Given the description of an element on the screen output the (x, y) to click on. 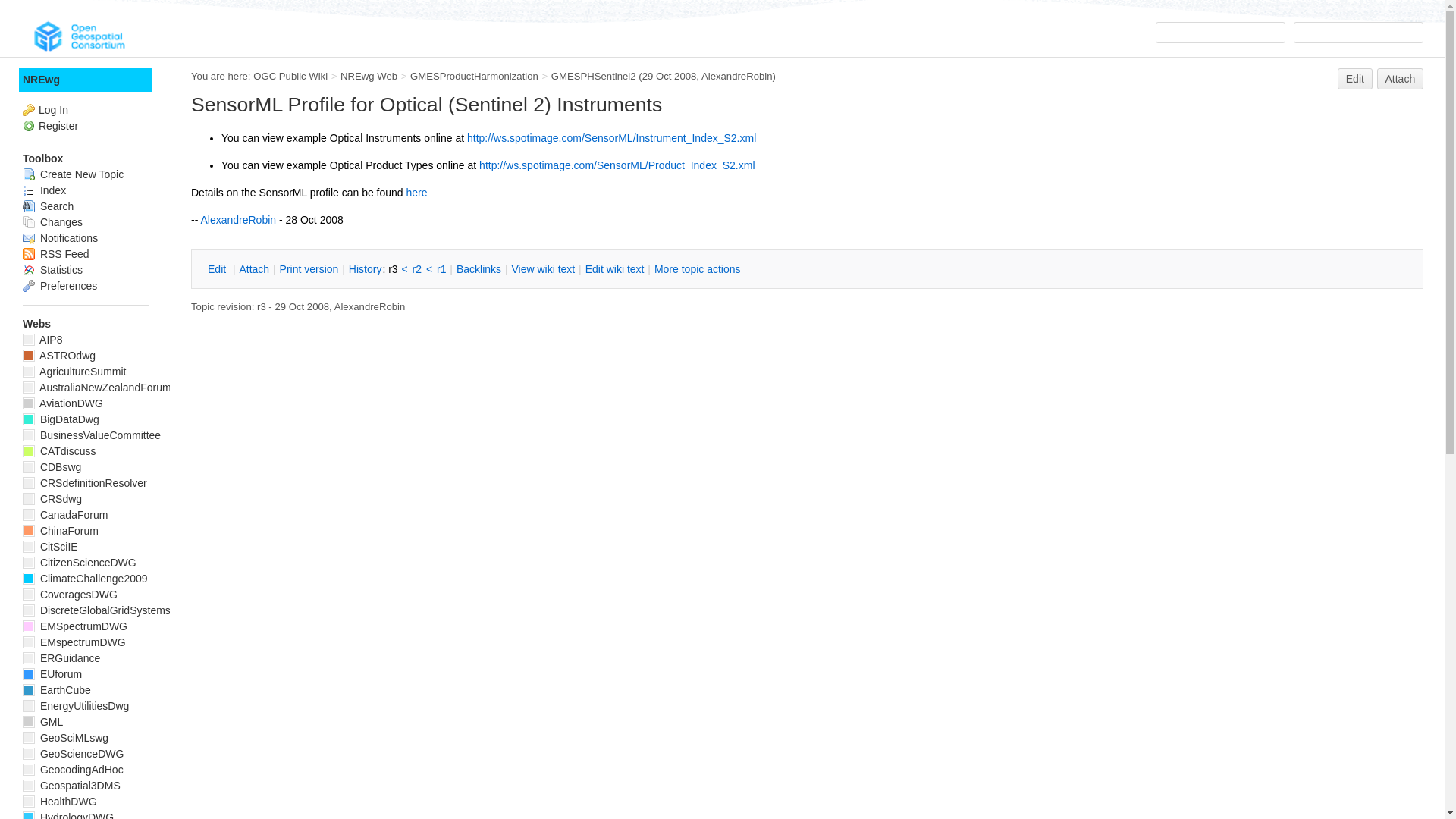
NREwg (85, 79)
Create New Topic (73, 174)
 AIP8 (42, 339)
Backlinks (478, 269)
 AgricultureSummit (74, 371)
Preferences (60, 285)
Print version (309, 269)
View complete topic history (364, 269)
Attach (253, 269)
Edit this topic text (1355, 78)
Search the NREwg Web for topics that link to here (478, 269)
View wiki text (543, 269)
Notifications (60, 237)
RSS Feed (55, 254)
Printable version of this topic (309, 269)
